Given the description of an element on the screen output the (x, y) to click on. 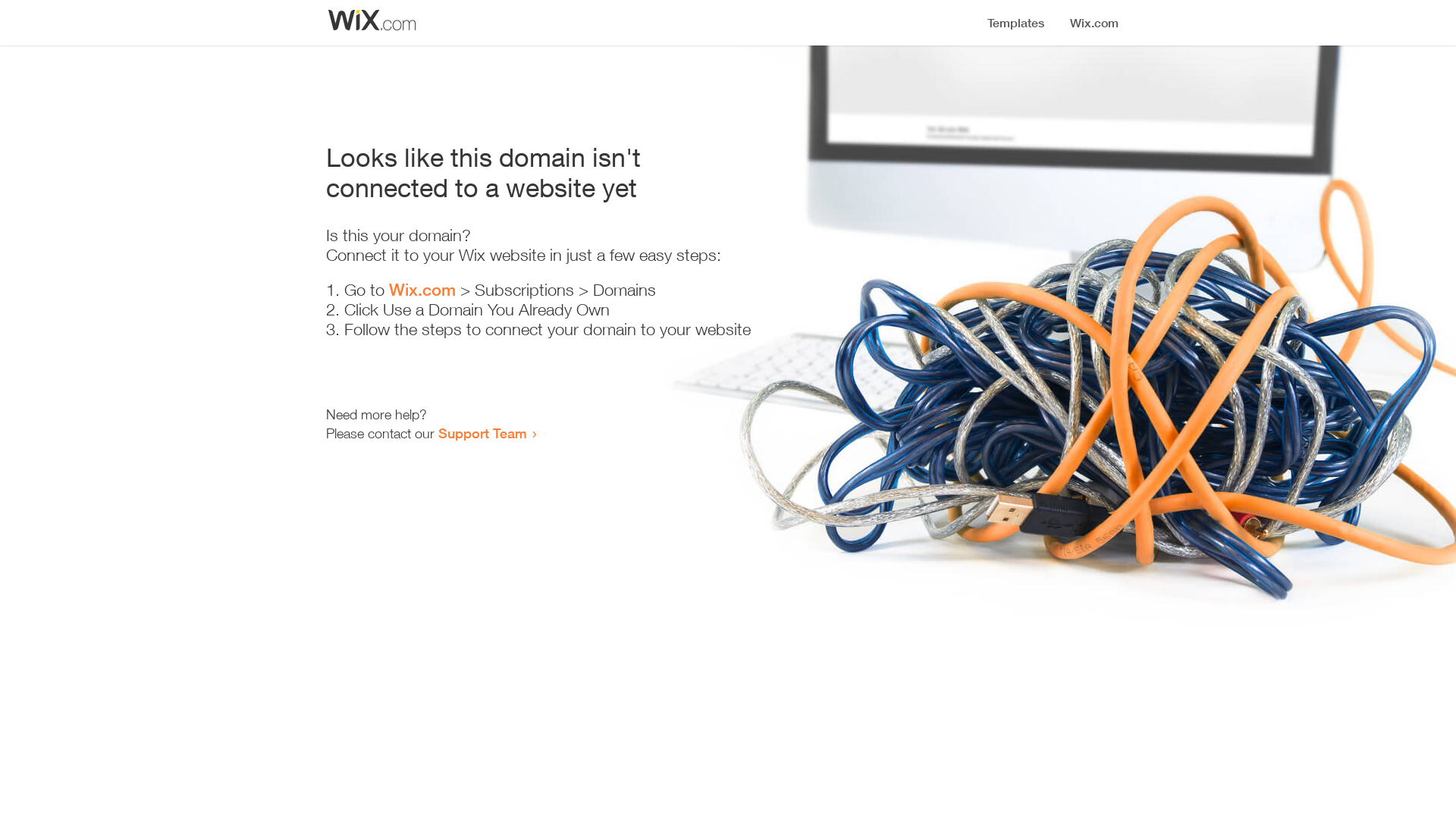
Support Team Element type: text (482, 432)
Wix.com Element type: text (422, 289)
